Given the description of an element on the screen output the (x, y) to click on. 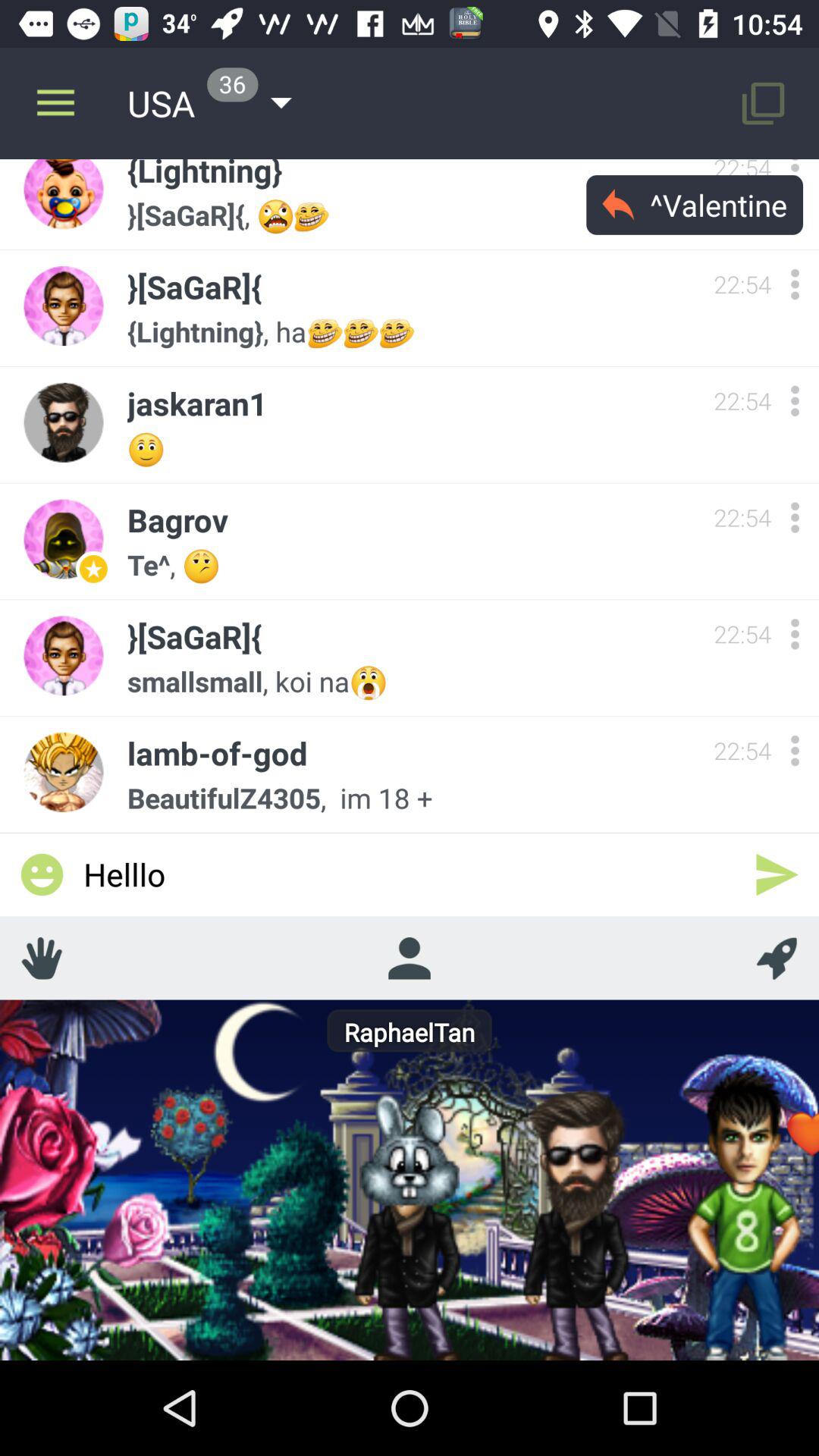
press the item next to the helllo icon (777, 957)
